Given the description of an element on the screen output the (x, y) to click on. 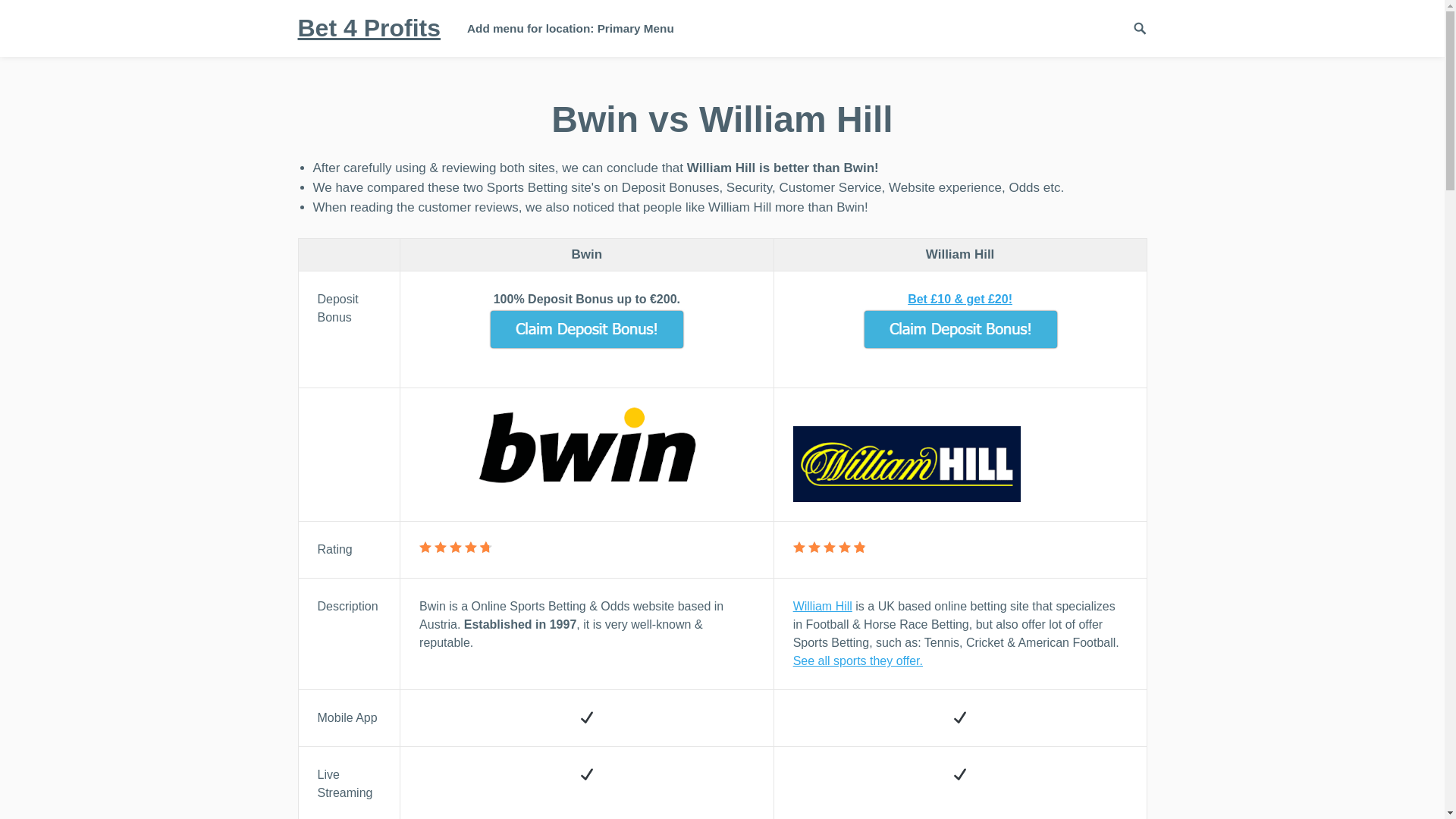
William Hill (822, 605)
See all sports they offer. (858, 660)
Deposit Bonus (586, 328)
William Hill (959, 298)
Add menu for location: Primary Menu (570, 28)
William Hill (822, 605)
William Hill (959, 328)
Bet 4 Profits (368, 28)
William Hill (858, 660)
William Hill (959, 463)
